Given the description of an element on the screen output the (x, y) to click on. 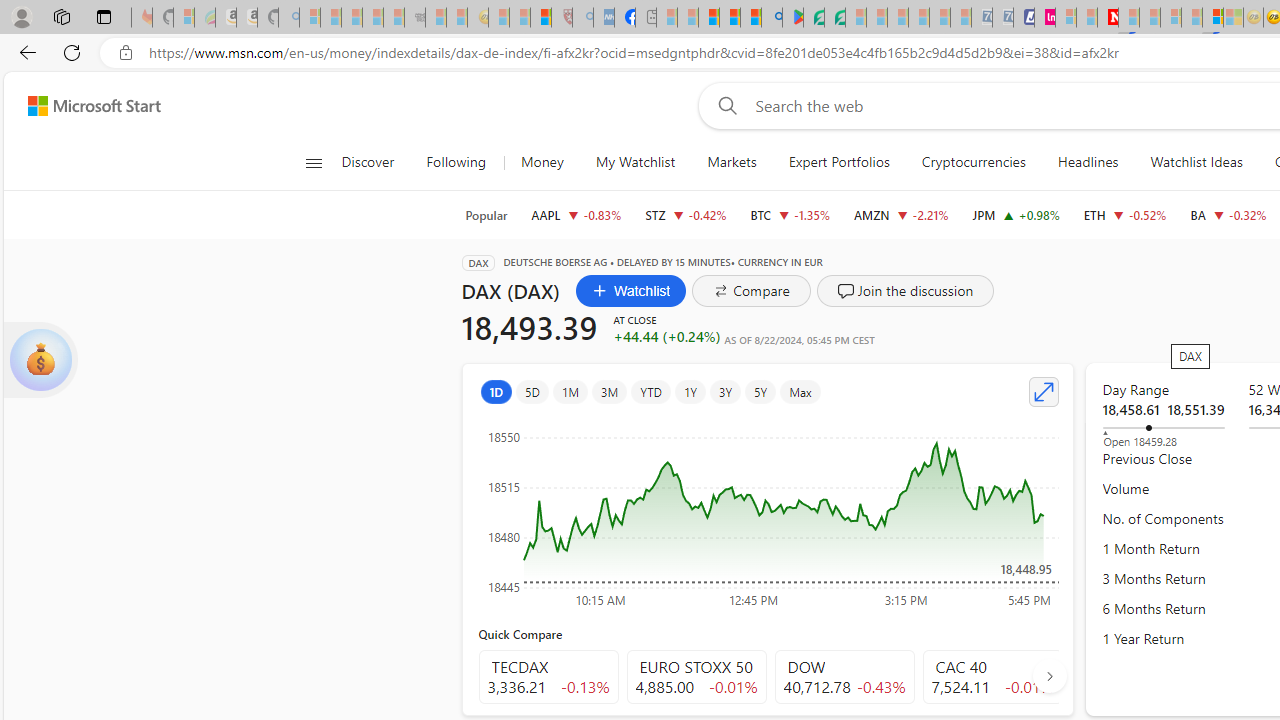
YTD (650, 391)
Markets (732, 162)
Max (799, 391)
3M (609, 391)
ETH Ethereum decrease 2,623.42 -13.69 -0.52% (1124, 214)
